Given the description of an element on the screen output the (x, y) to click on. 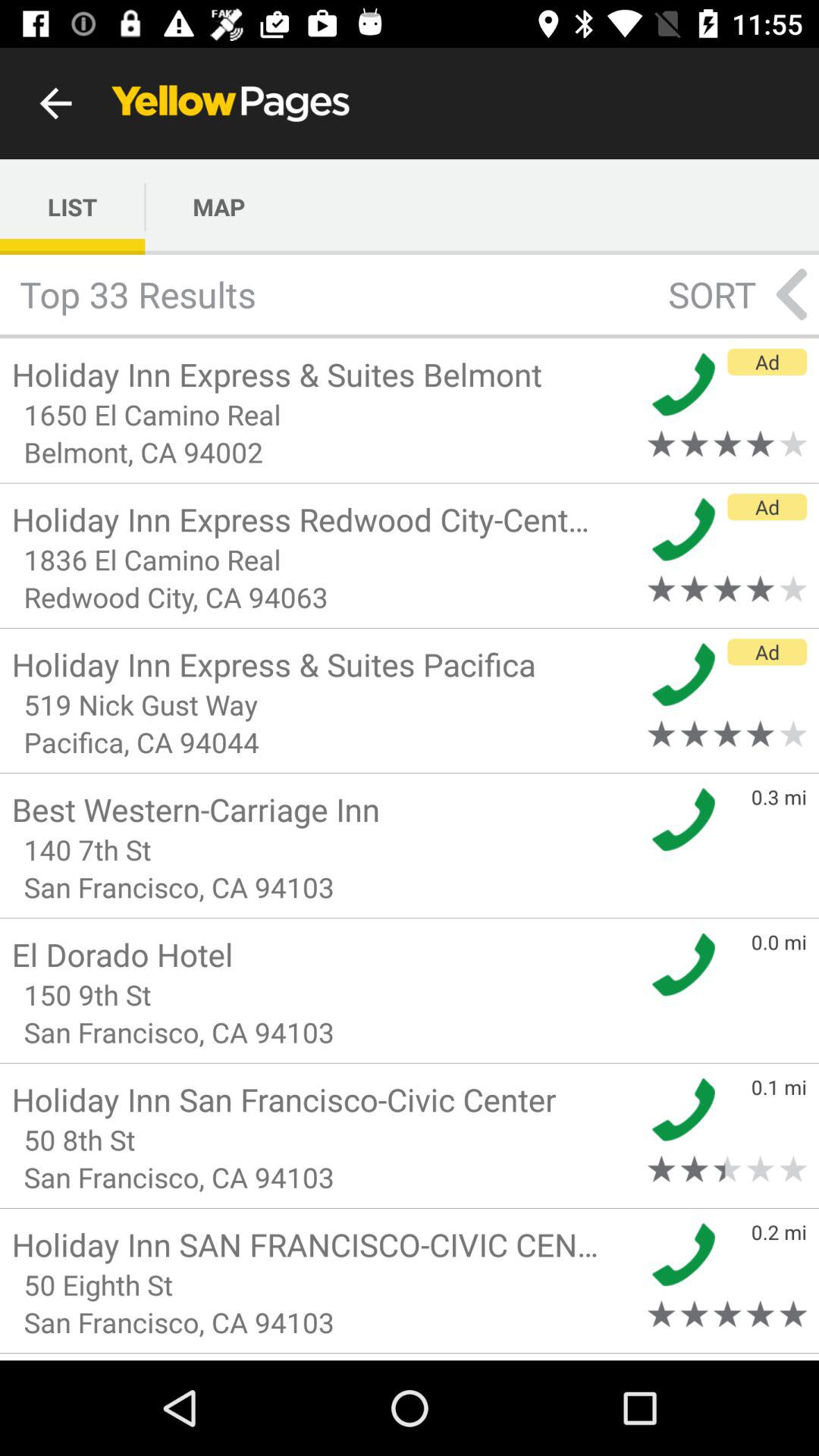
tap item next to map item (72, 206)
